Given the description of an element on the screen output the (x, y) to click on. 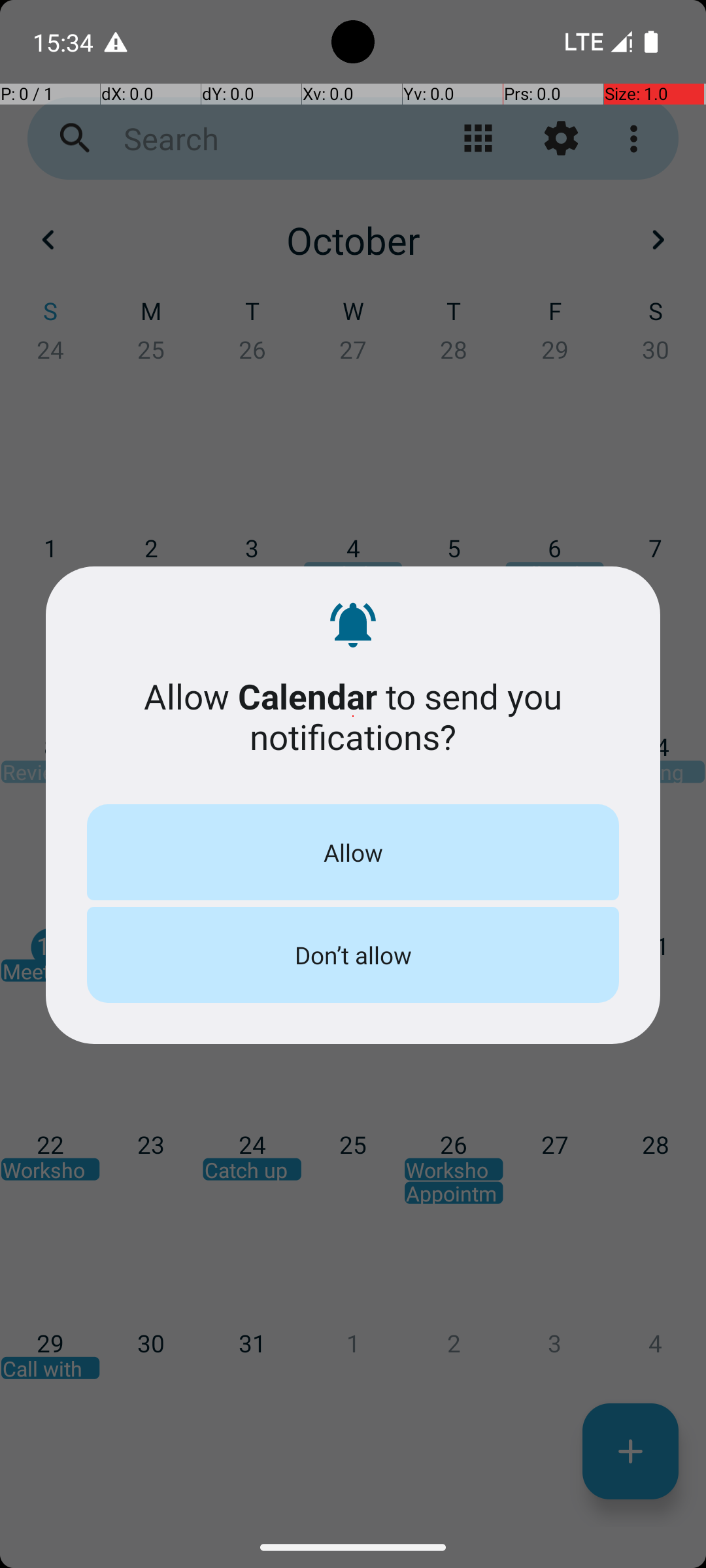
Allow Calendar to send you notifications? Element type: android.widget.TextView (352, 715)
Allow Element type: android.widget.Button (352, 852)
Don’t allow Element type: android.widget.Button (352, 954)
